Given the description of an element on the screen output the (x, y) to click on. 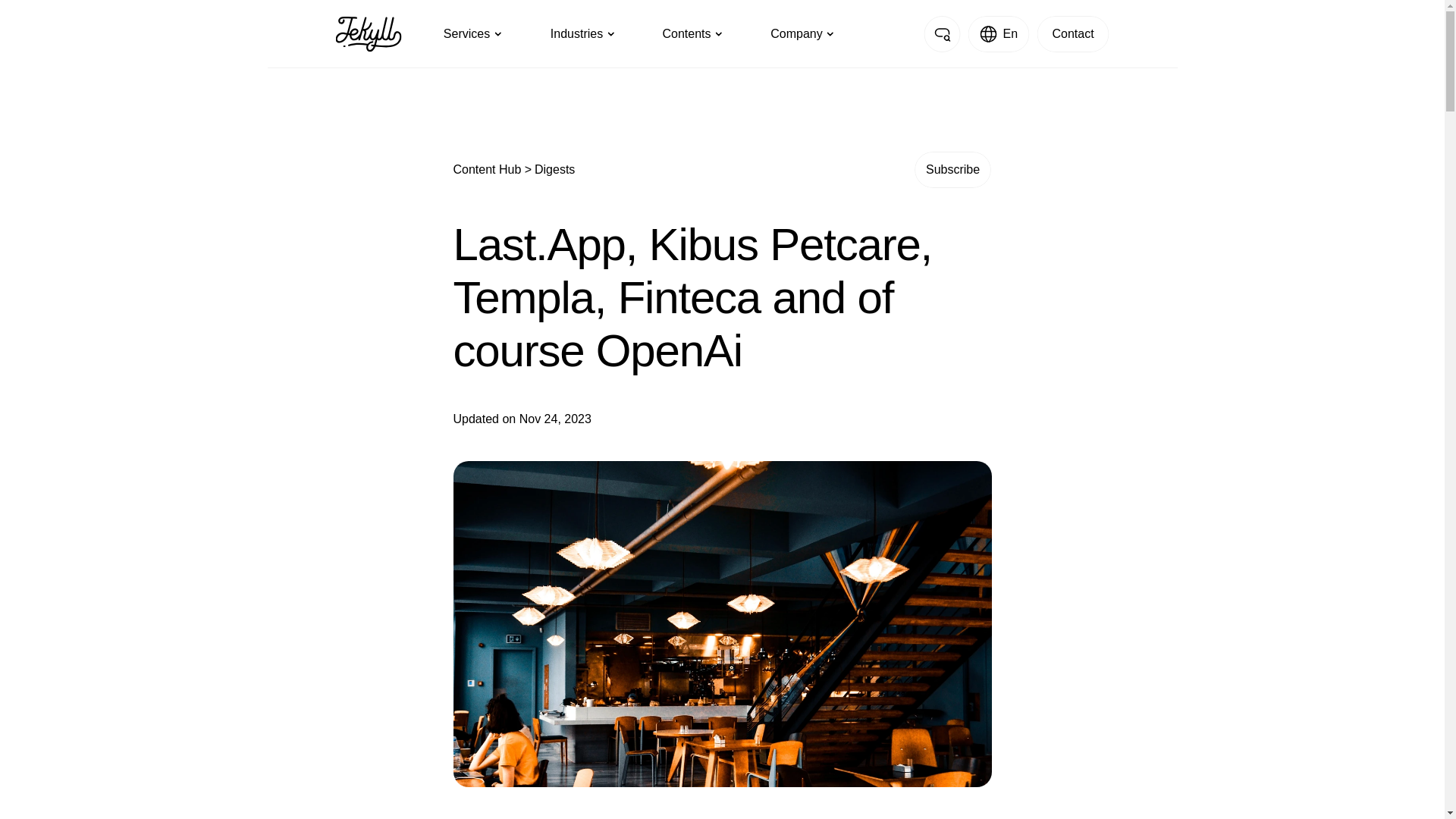
Digests (554, 169)
Content Hub  (488, 169)
Contact (1072, 33)
